Given the description of an element on the screen output the (x, y) to click on. 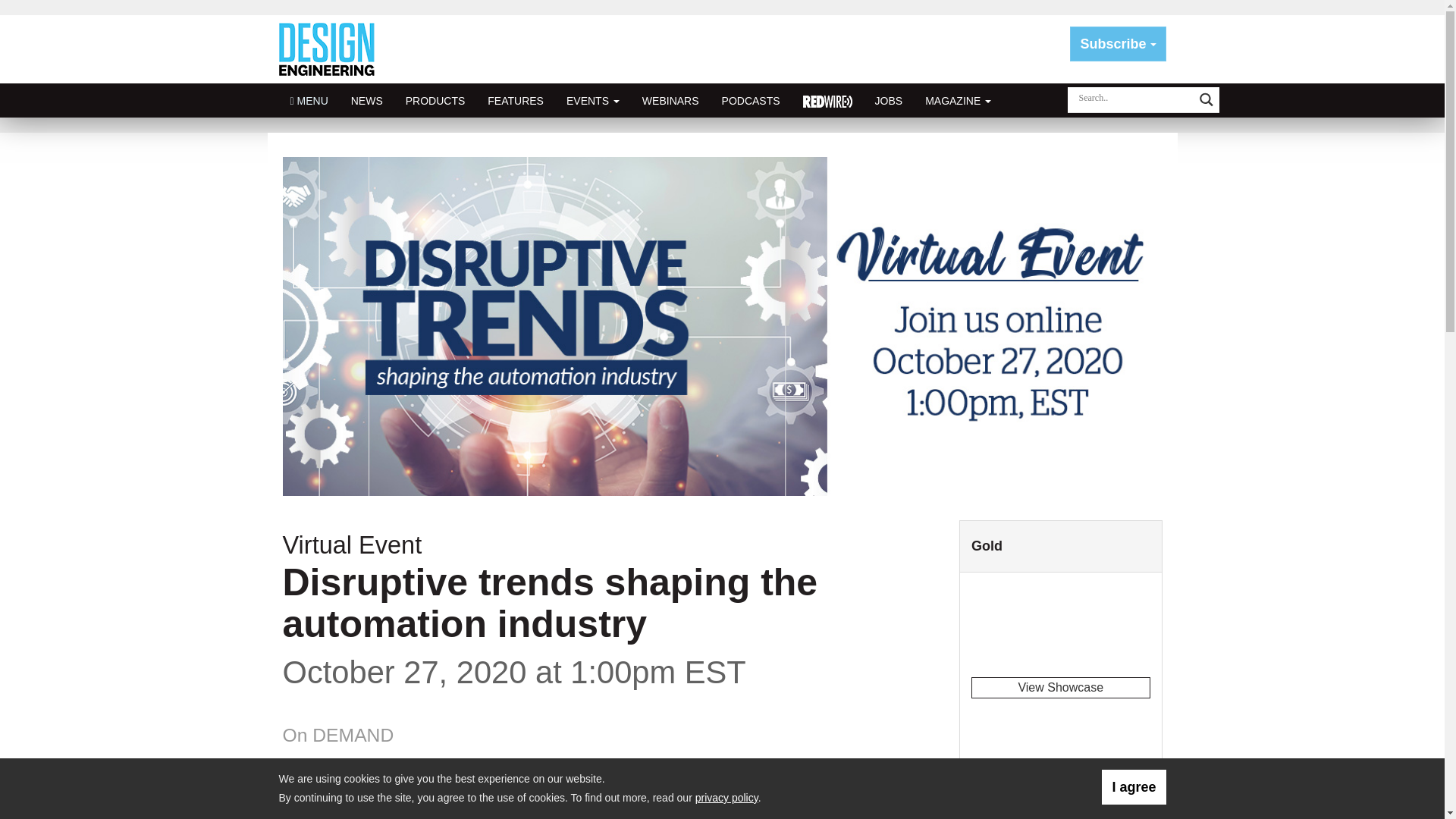
WEBINARS (670, 100)
FEATURES (515, 100)
EVENTS (592, 100)
JOBS (888, 100)
PODCASTS (751, 100)
PRODUCTS (435, 100)
Subscribe (1118, 43)
Click to show site navigation (309, 100)
Design Engineering (332, 48)
MAGAZINE (958, 100)
